Given the description of an element on the screen output the (x, y) to click on. 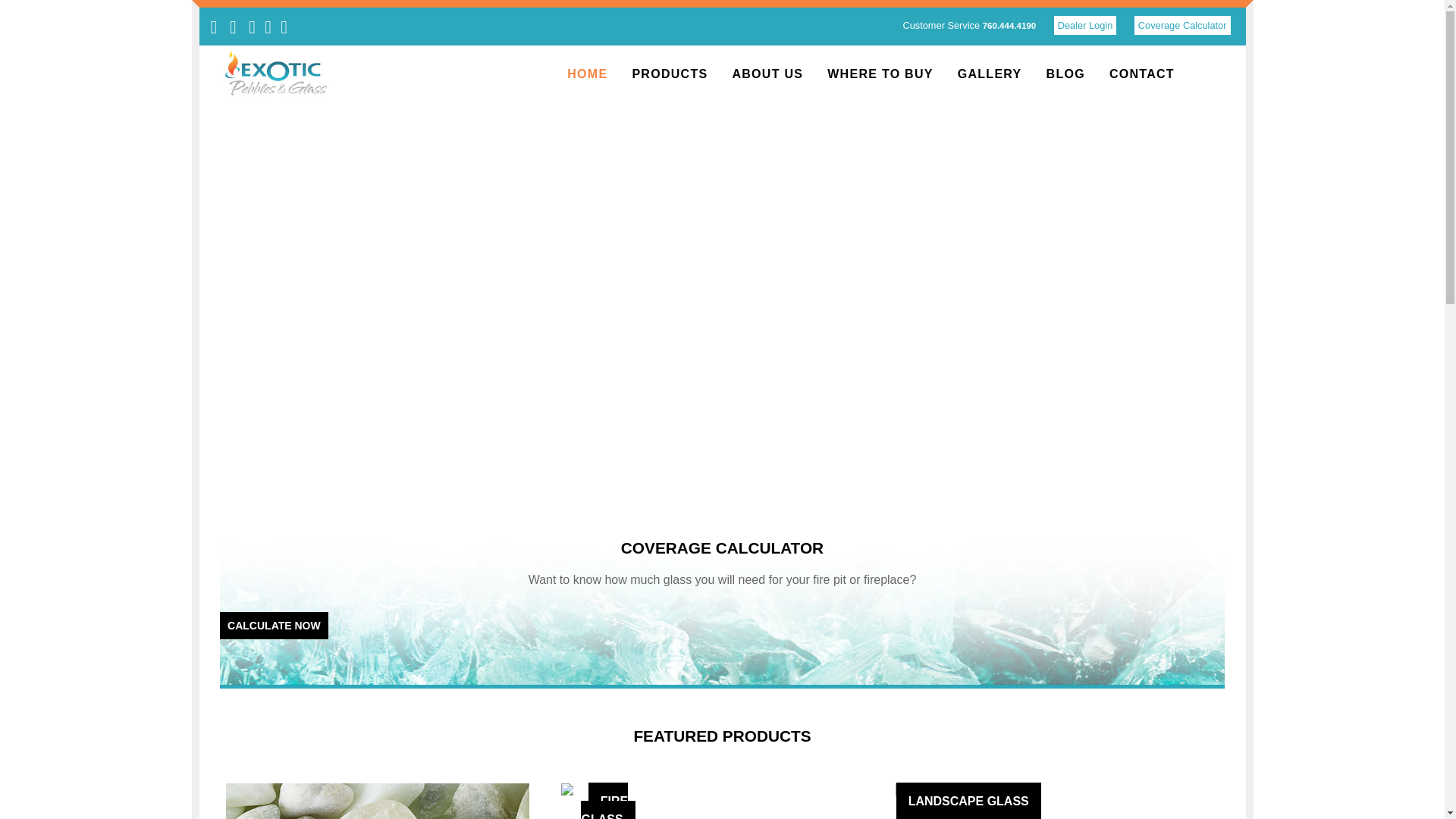
DECORATIVE PEBBLES (377, 800)
WHERE TO BUY (879, 74)
CALCULATE NOW (274, 625)
ABOUT US (767, 74)
HOME (587, 74)
Dealer Login (1085, 25)
LANDSCAPE GLASS (968, 791)
Coverage Calculator (1182, 25)
FIRE GLASS (608, 791)
PRODUCTS (669, 74)
BLOG (1065, 74)
GALLERY (988, 74)
CONTACT (1141, 74)
